Given the description of an element on the screen output the (x, y) to click on. 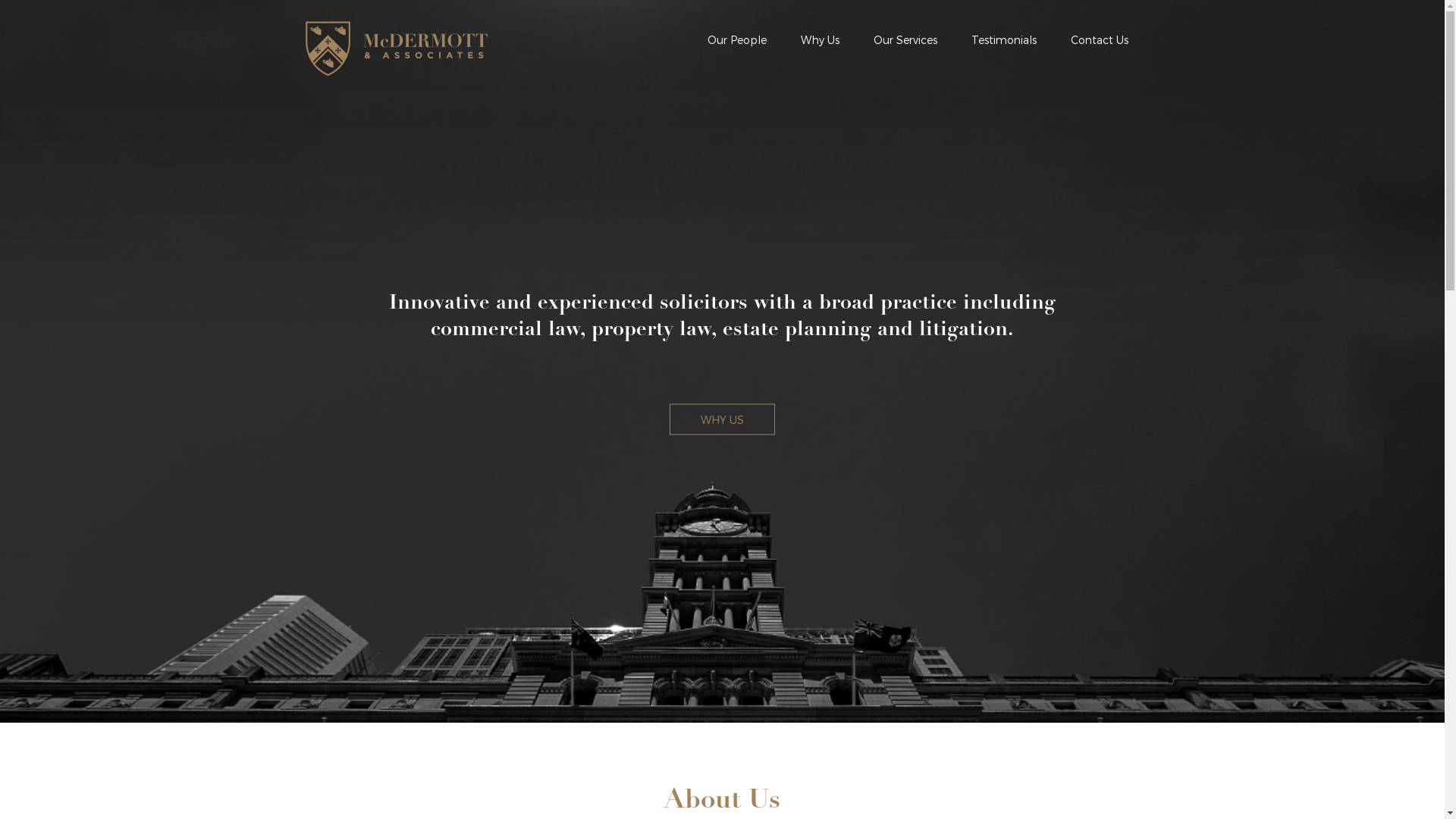
WHY US Element type: text (722, 419)
Contact Us Element type: text (1099, 40)
Why Us Element type: text (819, 40)
Testimonials Element type: text (1002, 40)
Our People Element type: text (735, 40)
Our Services Element type: text (905, 40)
